Given the description of an element on the screen output the (x, y) to click on. 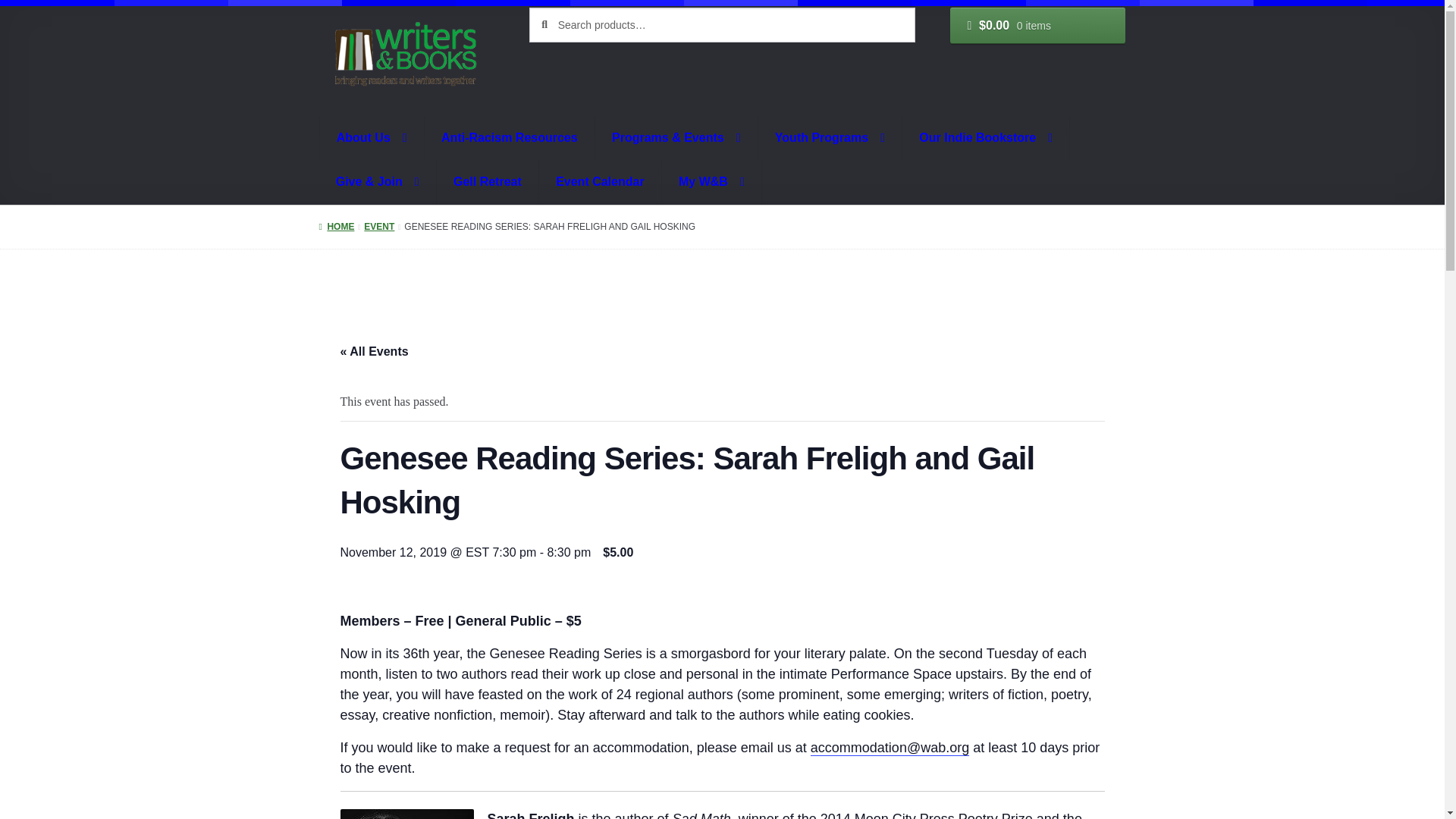
Anti-Racism Resources (510, 137)
Youth Programs (830, 137)
Our Indie Bookstore (986, 137)
About Us (371, 137)
View your shopping cart (1037, 25)
